Given the description of an element on the screen output the (x, y) to click on. 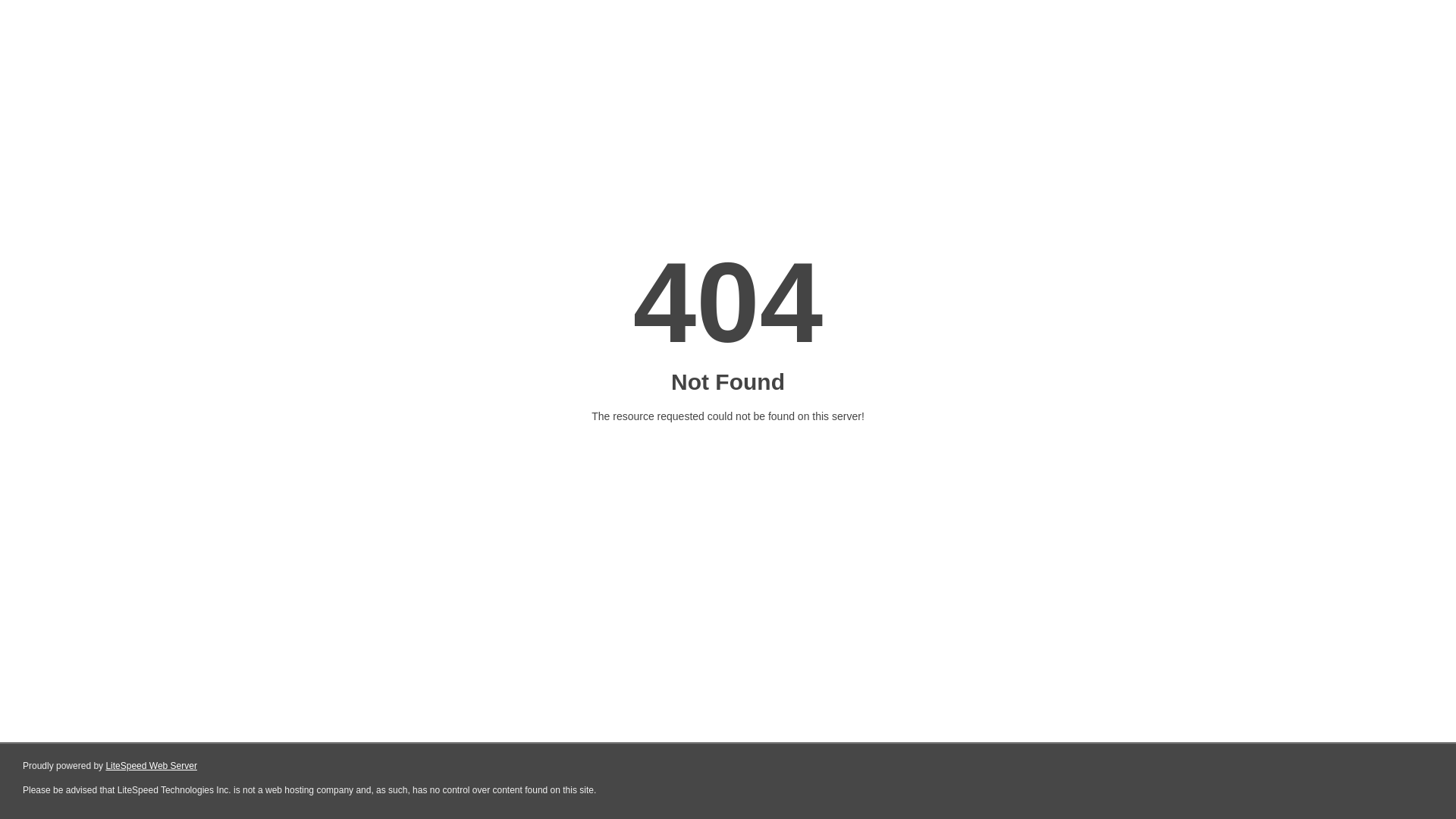
LiteSpeed Web Server Element type: text (151, 765)
